Given the description of an element on the screen output the (x, y) to click on. 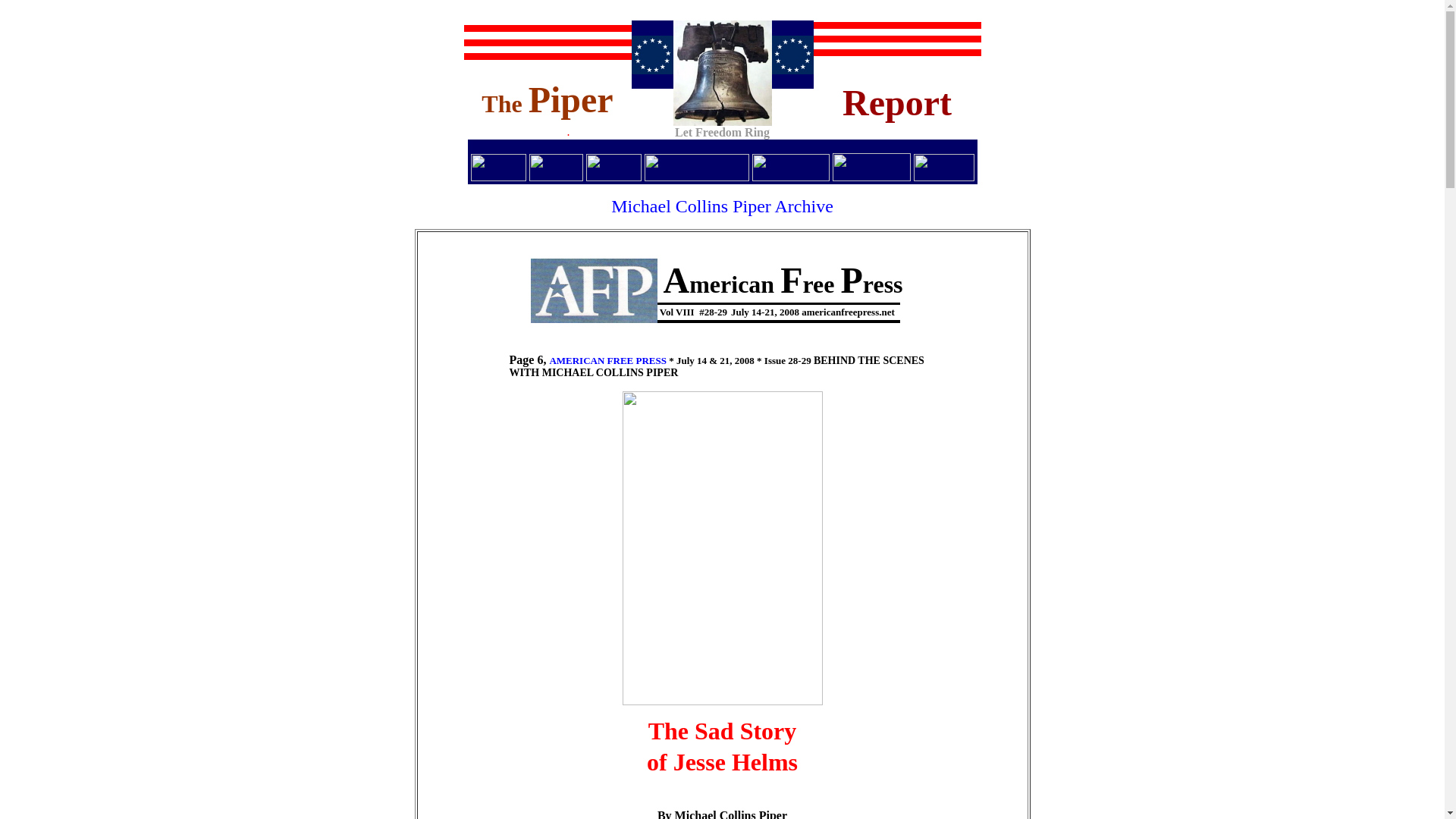
Michael Collins Piper Archive (721, 206)
AMERICAN FREE PRESS (607, 360)
